Given the description of an element on the screen output the (x, y) to click on. 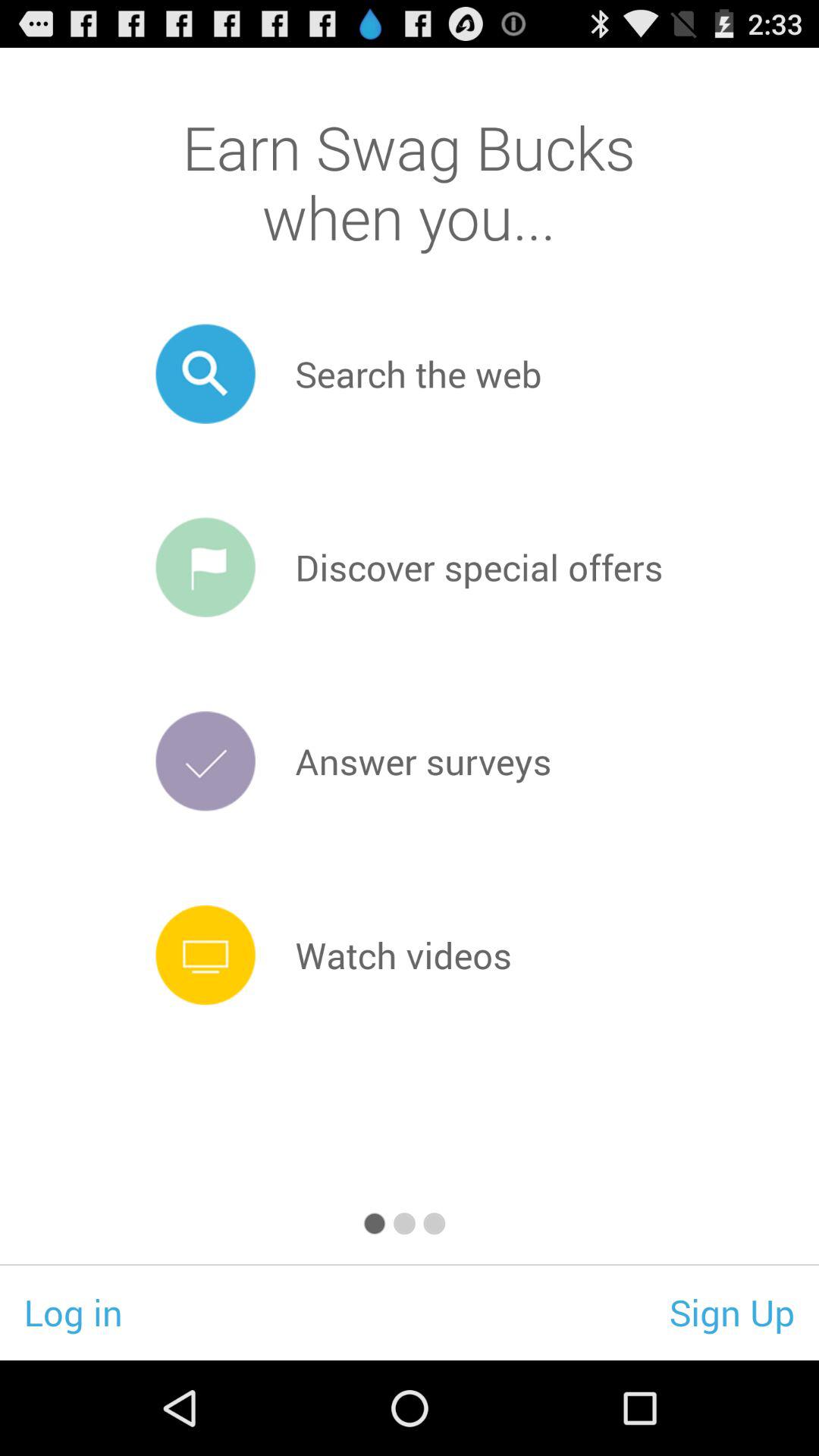
choose item at the bottom left corner (73, 1312)
